Given the description of an element on the screen output the (x, y) to click on. 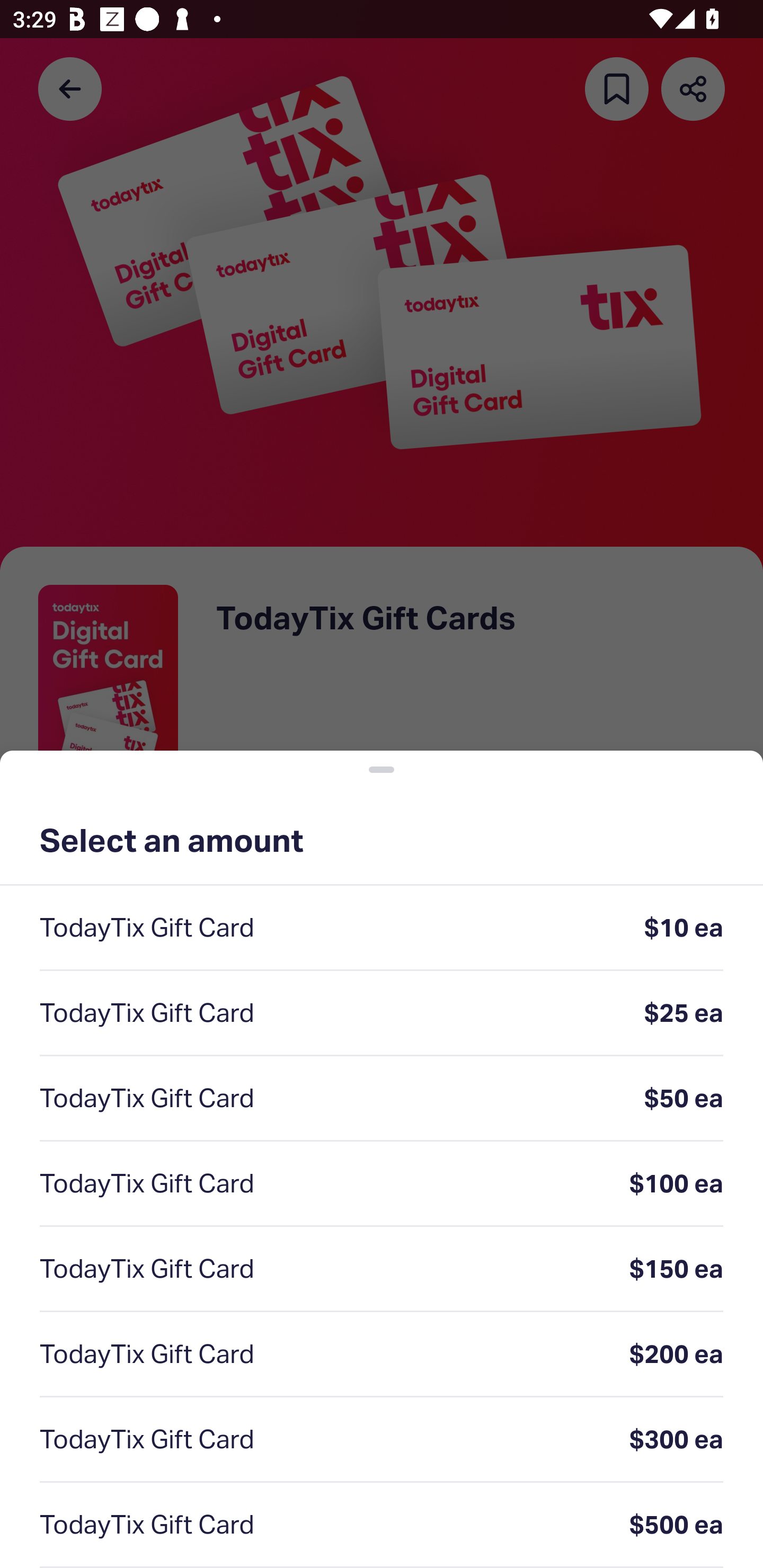
TodayTix Gift Card $10 ea (381, 927)
TodayTix Gift Card $25 ea (381, 1013)
TodayTix Gift Card $50 ea (381, 1098)
TodayTix Gift Card $100 ea (381, 1183)
TodayTix Gift Card $150 ea (381, 1269)
TodayTix Gift Card $200 ea (381, 1354)
TodayTix Gift Card $300 ea (381, 1440)
TodayTix Gift Card $500 ea (381, 1525)
